Given the description of an element on the screen output the (x, y) to click on. 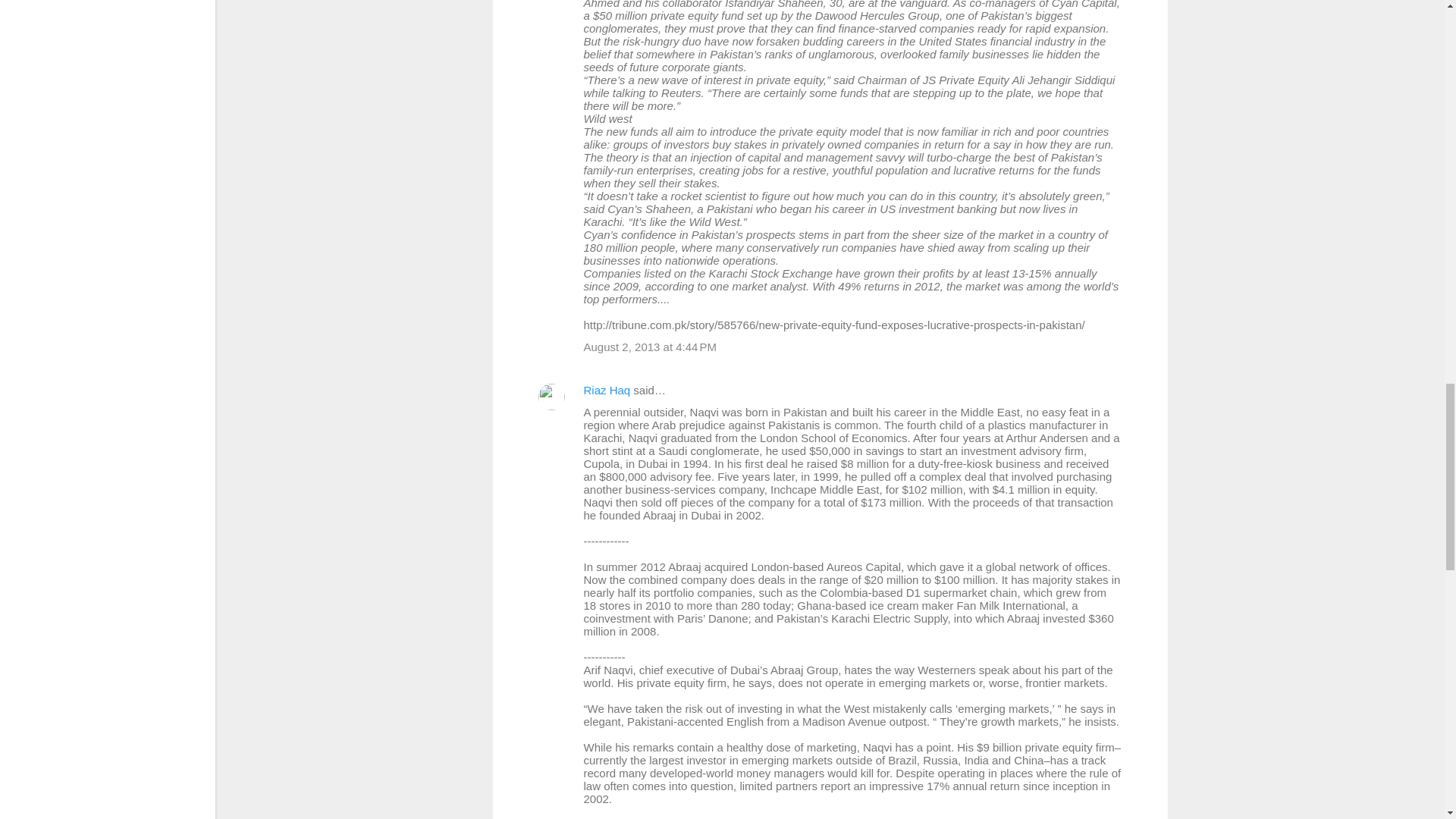
Riaz Haq (606, 390)
comment permalink (650, 346)
